Given the description of an element on the screen output the (x, y) to click on. 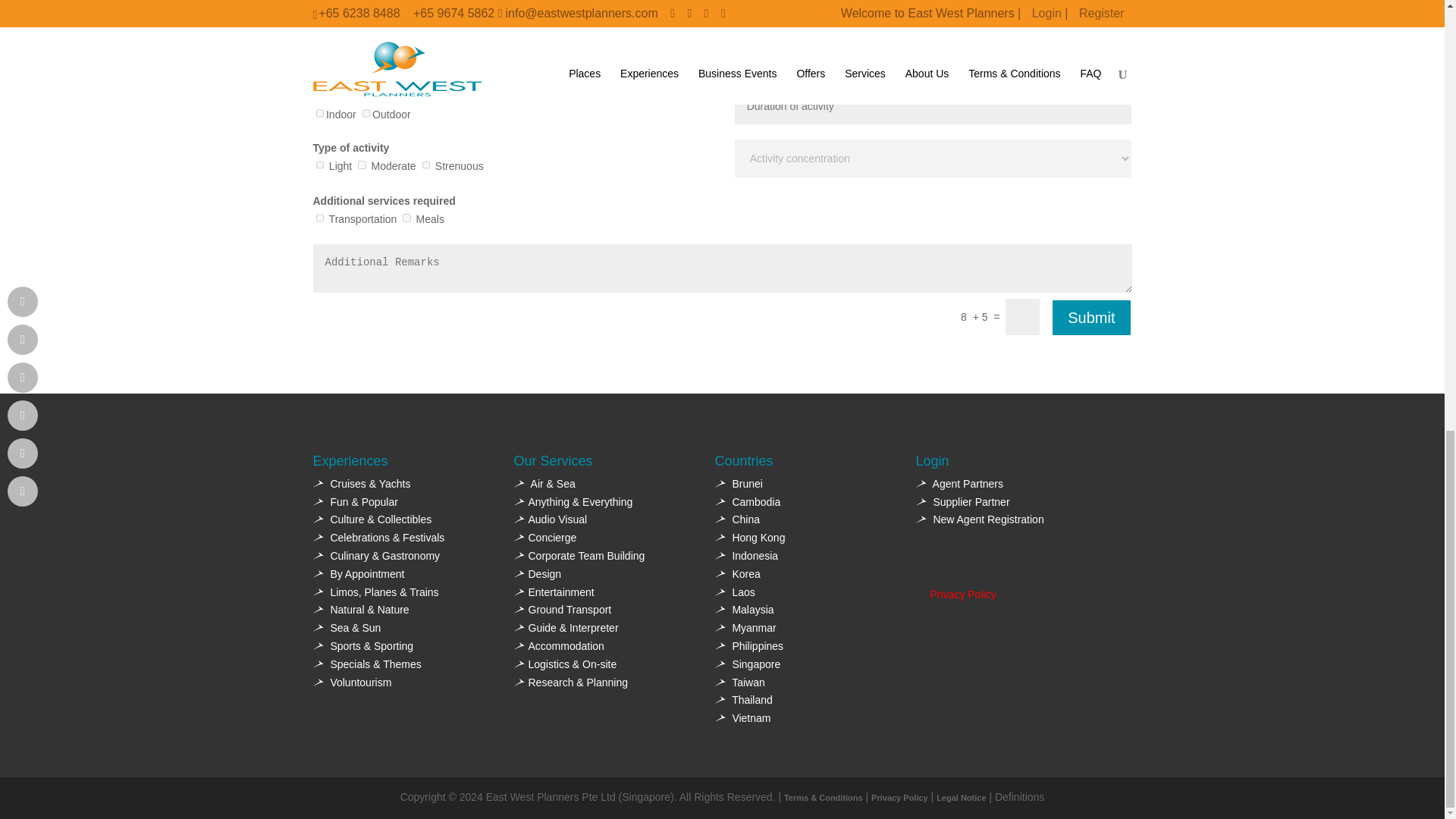
STRENUOUS (425, 164)
MODERATE (361, 164)
TRANSPORTATION (319, 217)
MEALS (406, 217)
OUTDOOR (365, 112)
Submit (1091, 317)
LIGHT (319, 164)
INDOOR (319, 112)
